Given the description of an element on the screen output the (x, y) to click on. 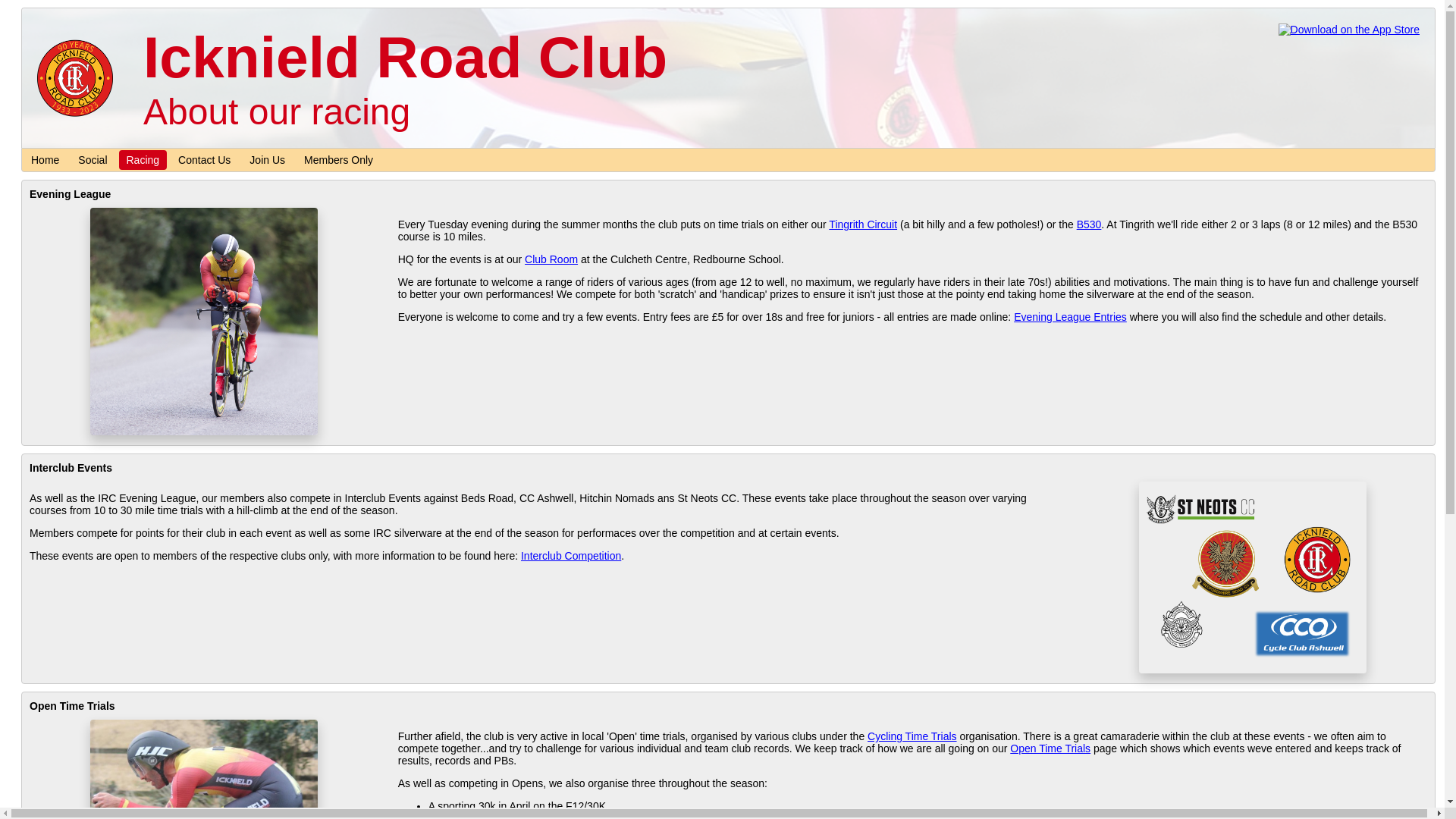
Home Element type: text (44, 159)
Members Only Element type: text (338, 159)
Contact Us Element type: text (204, 159)
Tingrith Circuit Element type: text (862, 224)
B530 Element type: text (1088, 224)
Open Time Trials Element type: text (1050, 748)
Interclub Competition Element type: text (570, 555)
Join Us Element type: text (266, 159)
Cycling Time Trials Element type: text (911, 736)
Evening League Entries Element type: text (1069, 316)
Club Room Element type: text (550, 259)
